Given the description of an element on the screen output the (x, y) to click on. 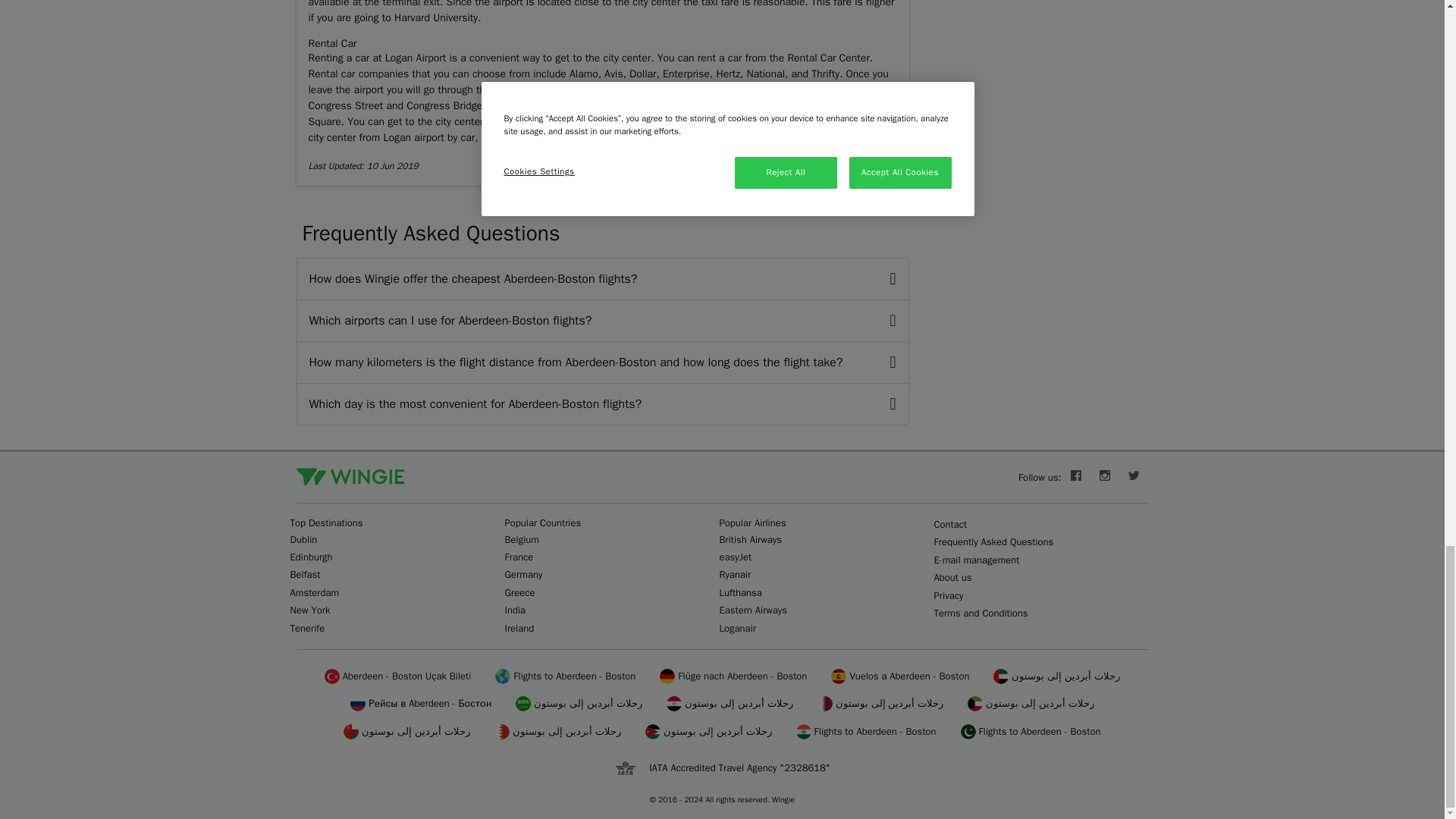
Tenerife (306, 627)
France (519, 556)
Germany (524, 574)
New York (309, 609)
Instagram (1104, 477)
Top Destinations (325, 522)
Belfast (304, 574)
Greece (520, 592)
Belgium (521, 539)
Dublin (303, 539)
Amsterdam (314, 592)
Popular Countries (542, 522)
Twitter (1133, 477)
India (515, 609)
Facebook (1075, 477)
